Given the description of an element on the screen output the (x, y) to click on. 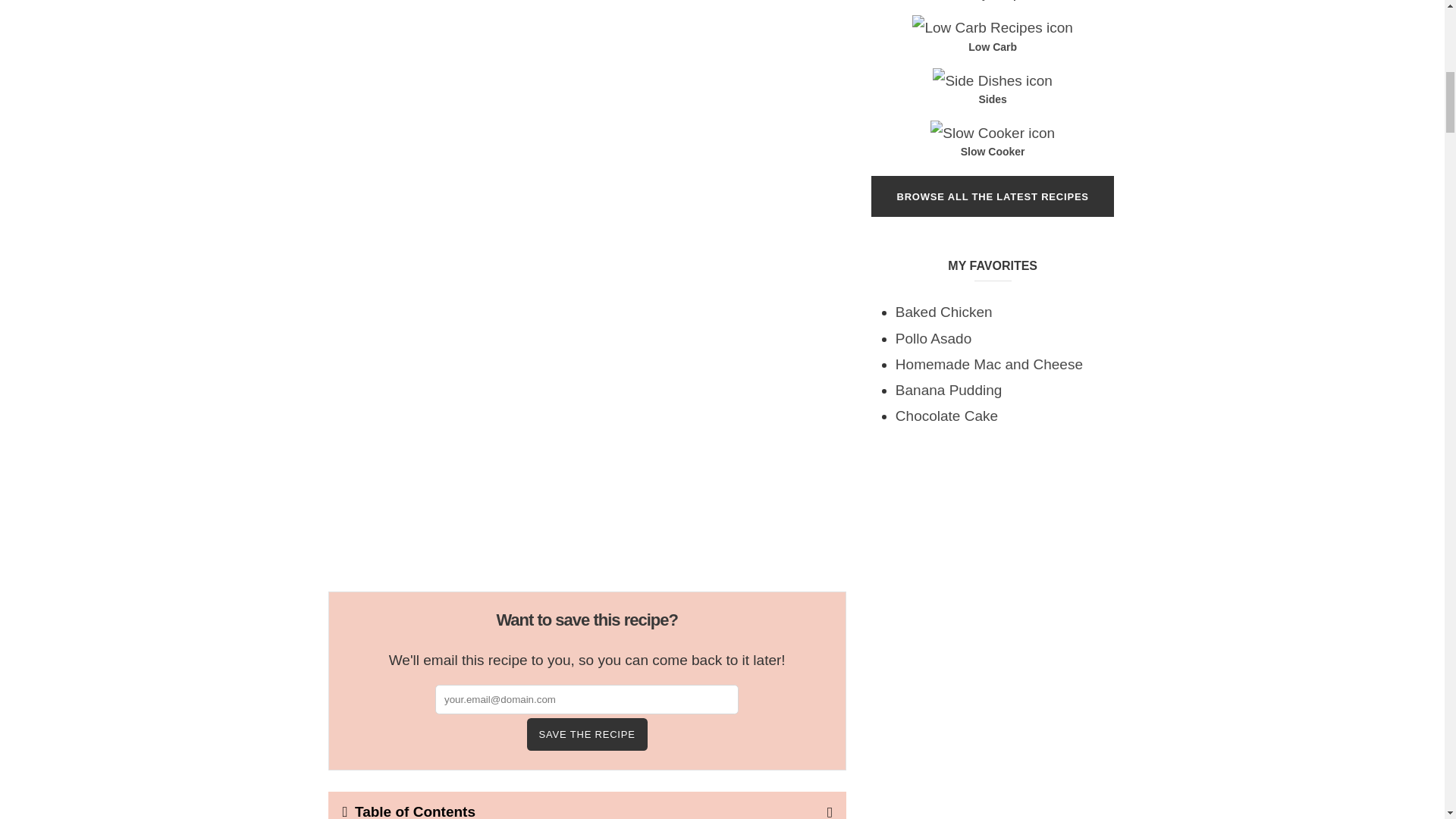
Save The Recipe (587, 734)
